Given the description of an element on the screen output the (x, y) to click on. 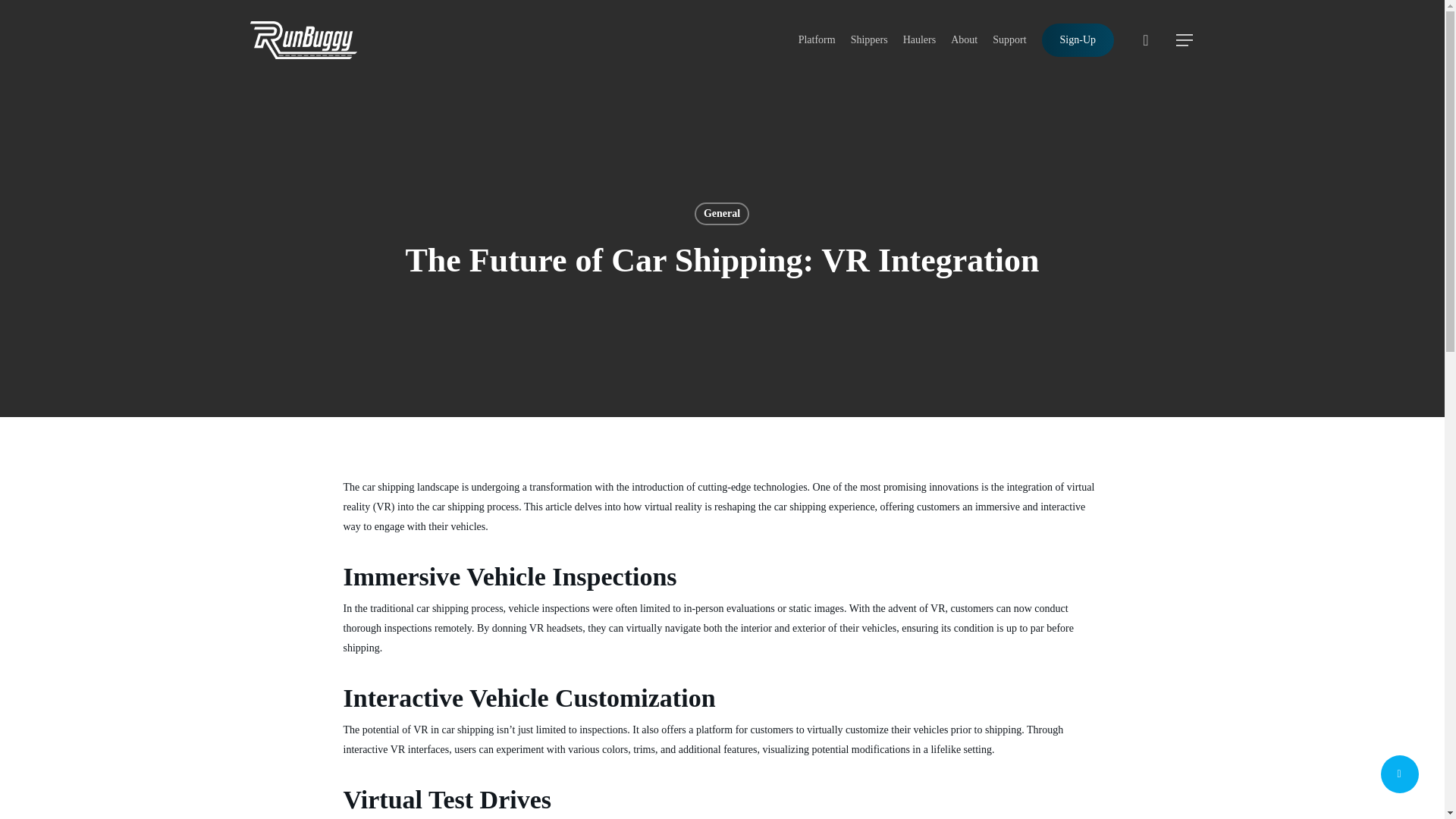
Platform (816, 39)
Shippers (869, 39)
Support (1009, 39)
Menu (1184, 39)
About (963, 39)
Haulers (919, 39)
Sign-Up (1077, 39)
General (721, 213)
account (1145, 39)
